Given the description of an element on the screen output the (x, y) to click on. 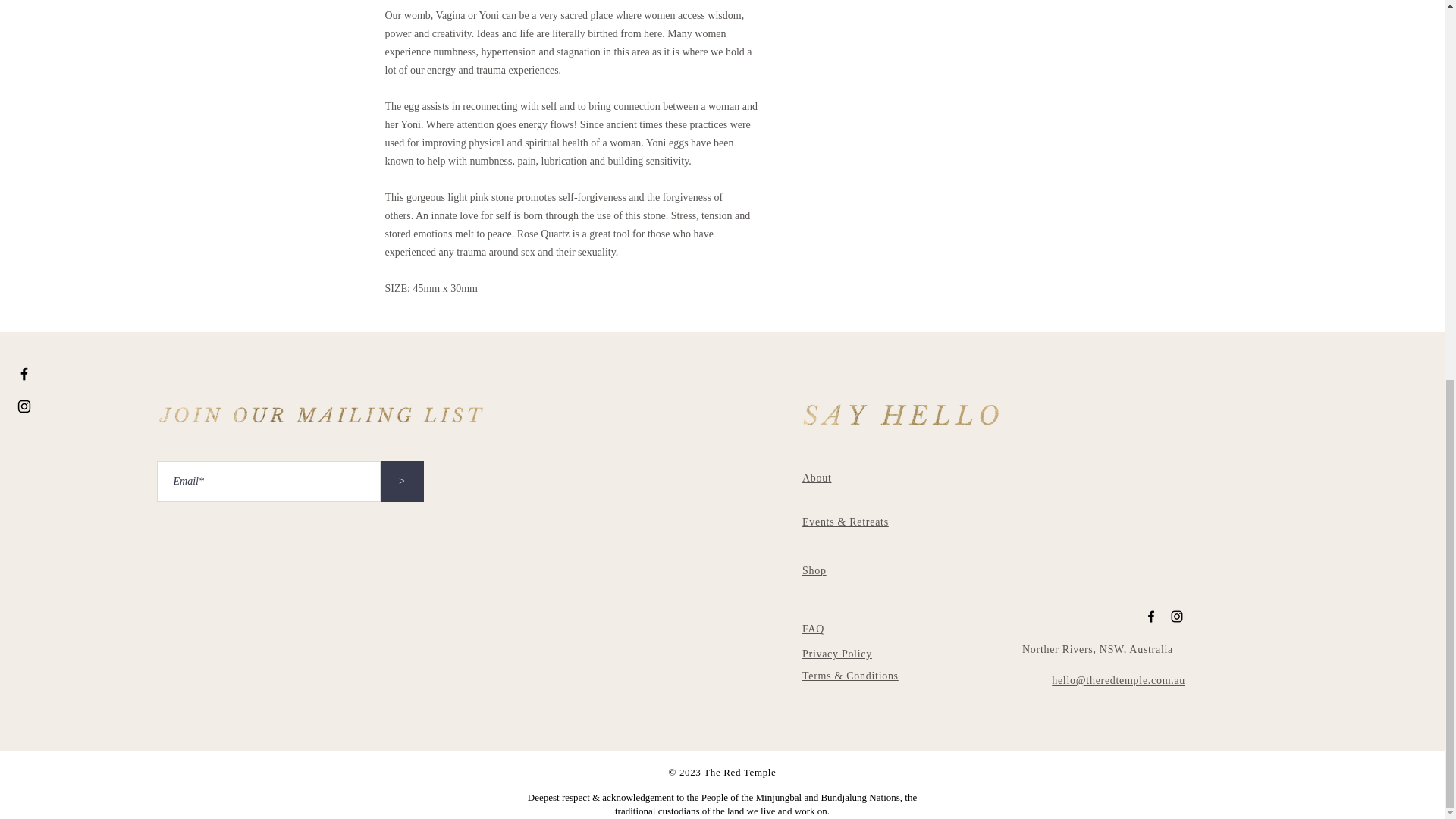
Shop (814, 570)
FAQ (813, 628)
Privacy Policy (837, 654)
About (816, 478)
